Given the description of an element on the screen output the (x, y) to click on. 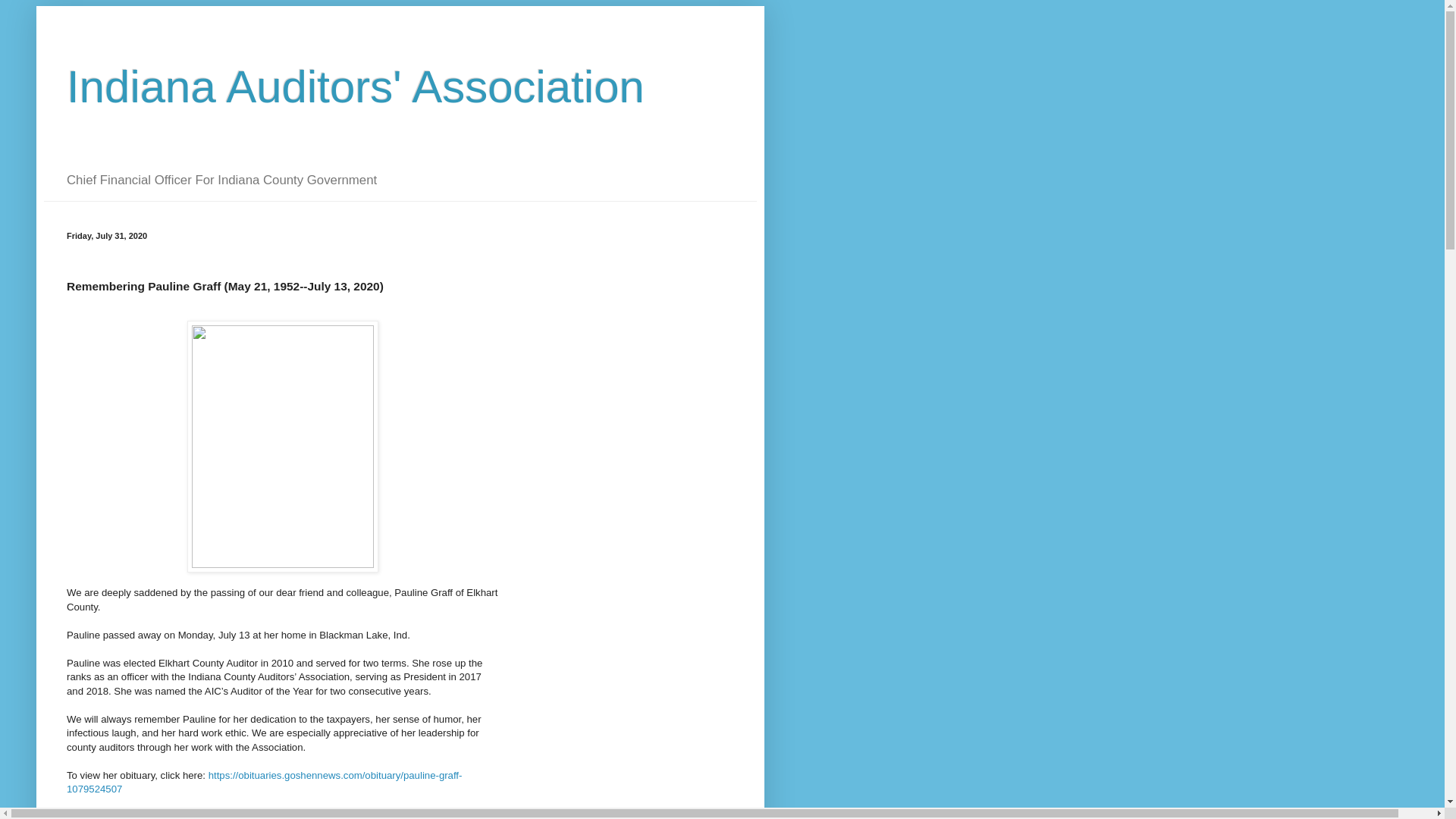
Indiana Auditors' Association (355, 86)
